Given the description of an element on the screen output the (x, y) to click on. 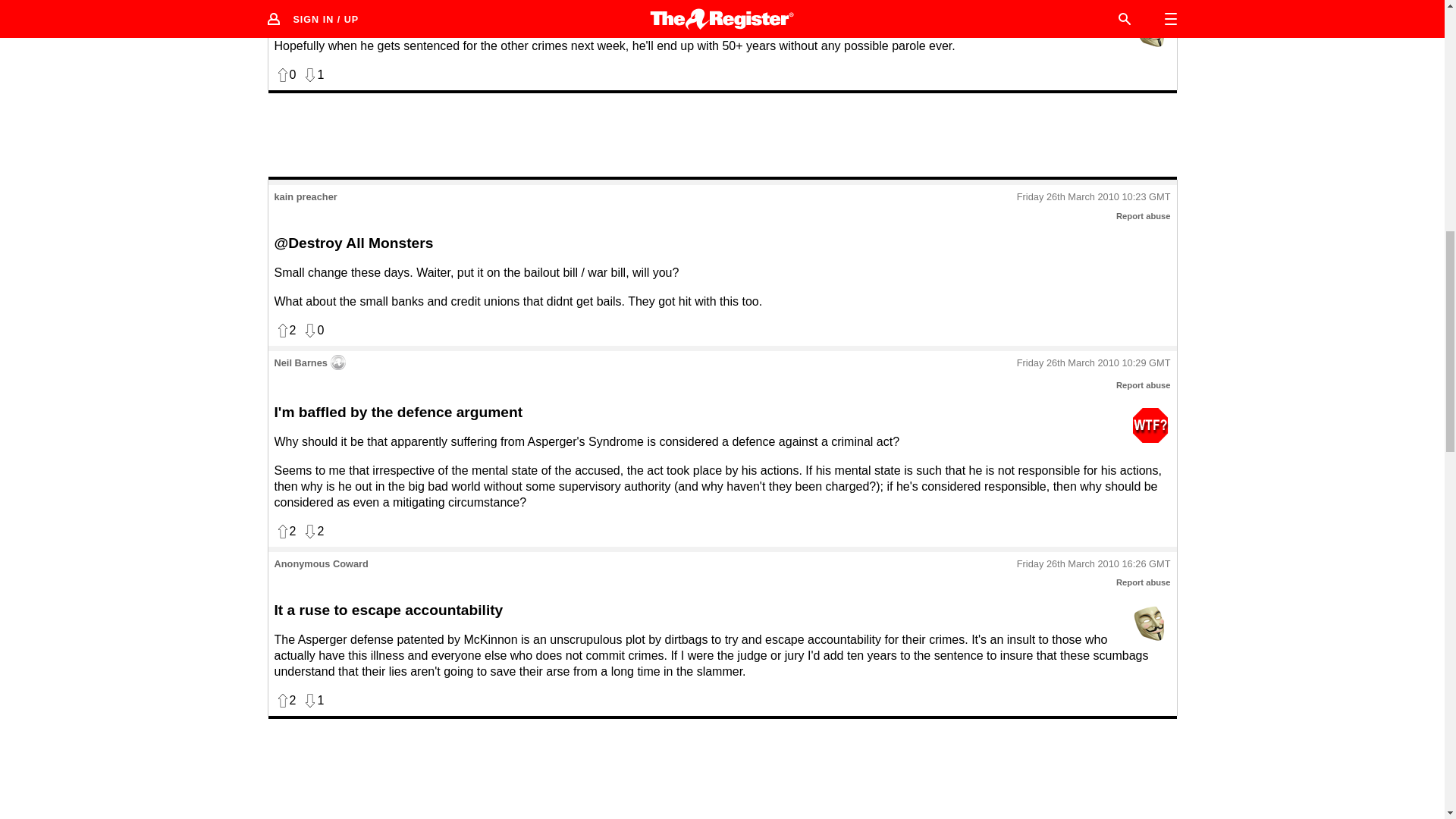
Report abuse (1143, 582)
Report abuse (1143, 215)
Report abuse (1143, 384)
